Given the description of an element on the screen output the (x, y) to click on. 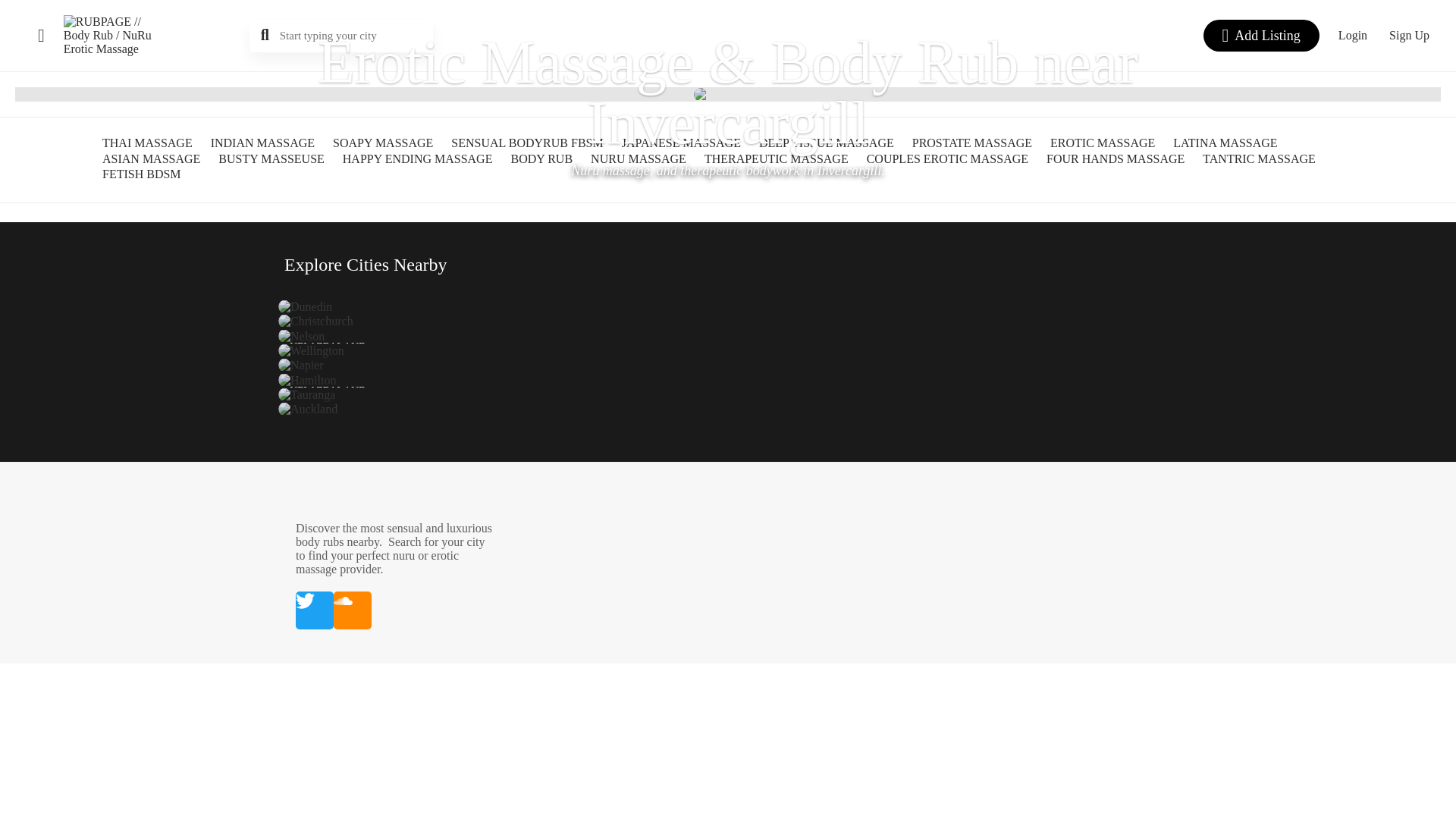
Napier (300, 365)
THAI MASSAGE (146, 144)
FOUR HANDS MASSAGE (1115, 160)
SENSUAL BODYRUB FBSM (526, 144)
BUSTY MASSEUSE (270, 160)
Invercargill (727, 122)
Auckland (307, 409)
DEEP TISSUE MASSAGE (825, 144)
Tauranga (306, 395)
Christchurch (315, 321)
PROSTATE MASSAGE (972, 144)
HAPPY ENDING MASSAGE (417, 160)
SOAPY MASSAGE (382, 144)
TANTRIC MASSAGE (1259, 160)
Wellington (310, 350)
